Given the description of an element on the screen output the (x, y) to click on. 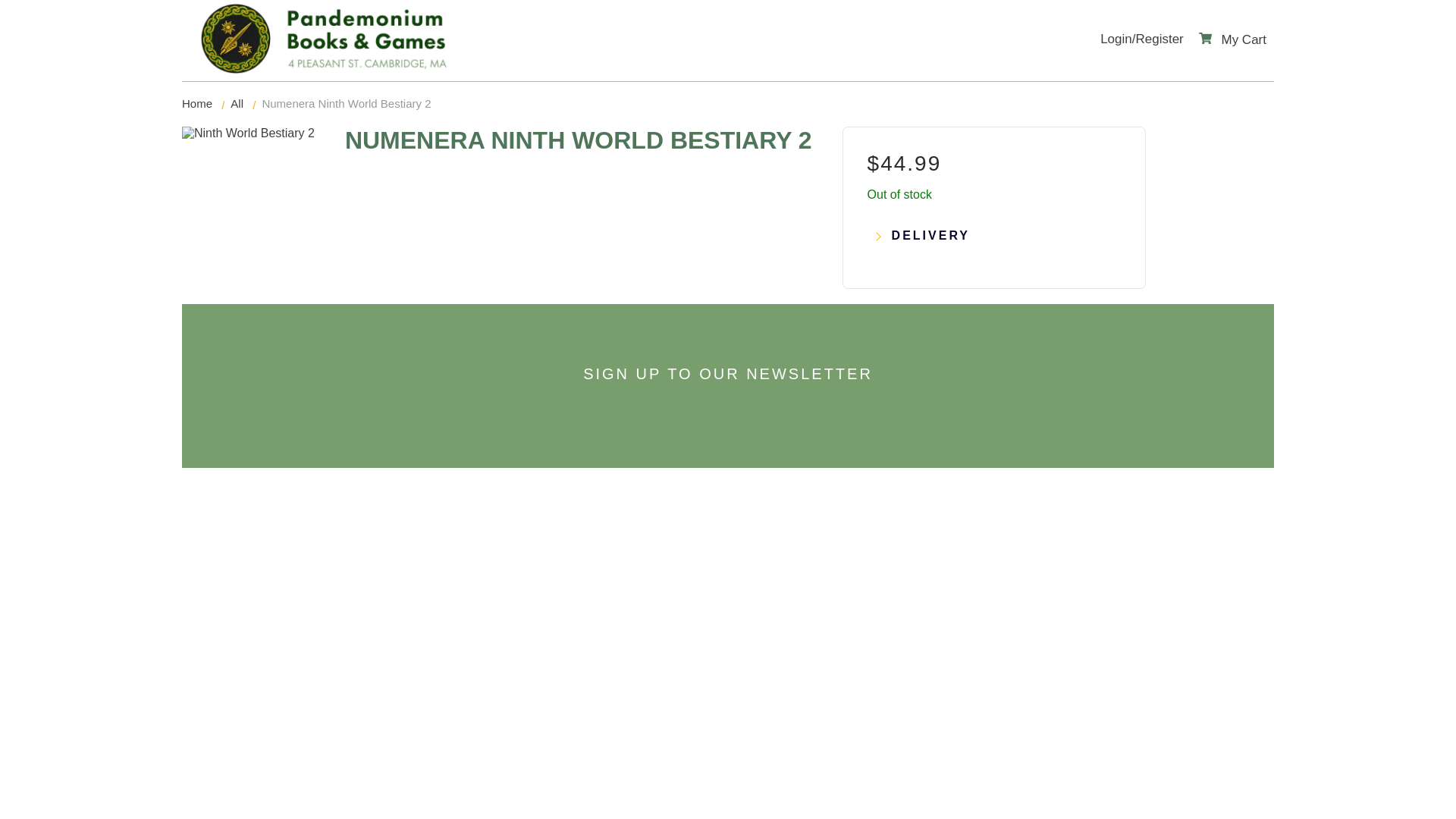
Home (197, 103)
All (236, 103)
My Cart (1232, 39)
